Given the description of an element on the screen output the (x, y) to click on. 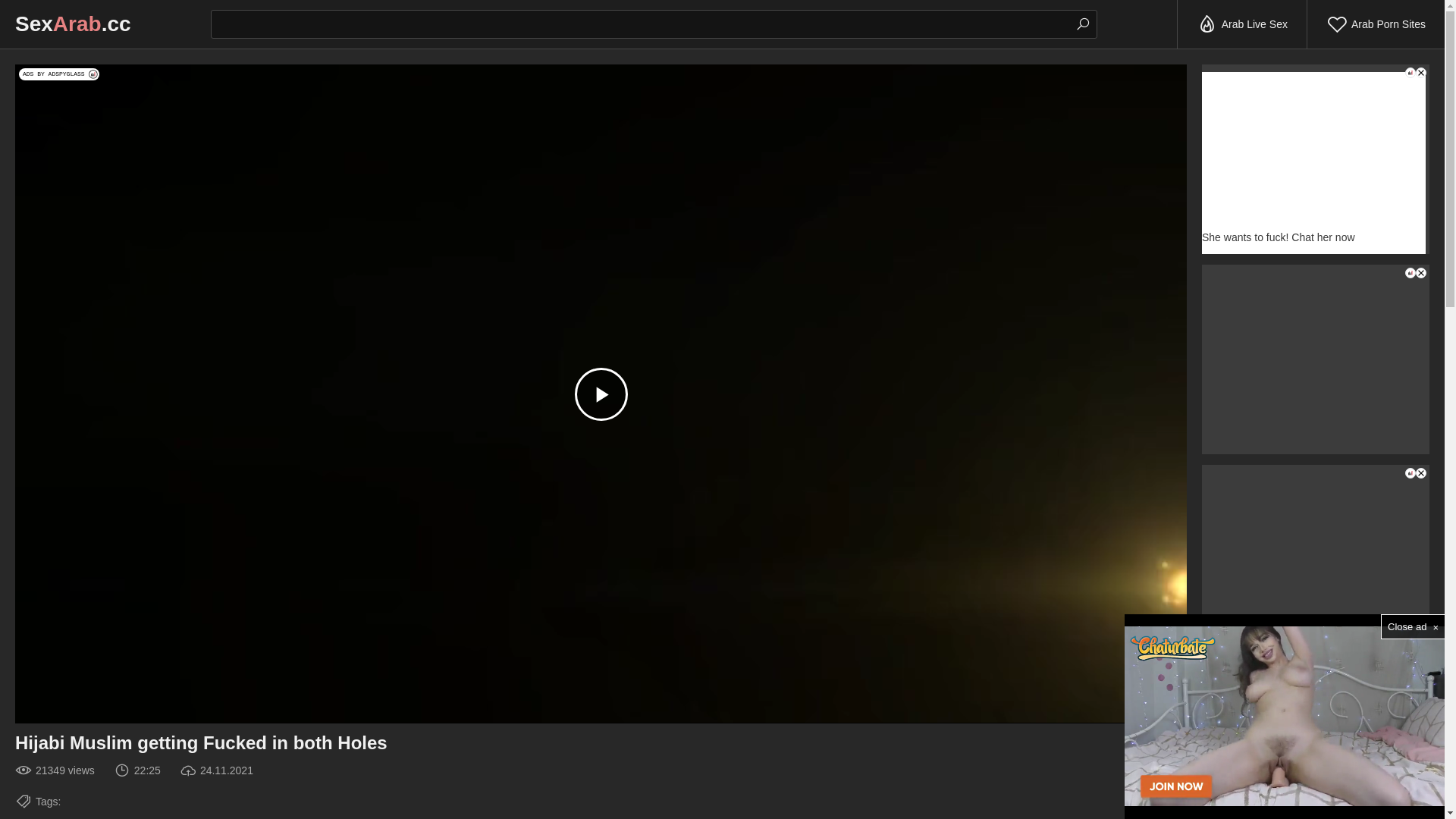
Play Video Element type: text (600, 393)
Arab Porn Sites Element type: text (1375, 24)
ADS BY ADSPYGLASS Element type: text (58, 74)
Find Element type: hover (1082, 24)
SexArab.cc Element type: text (73, 23)
Arab Live Sex Element type: text (1241, 24)
